Given the description of an element on the screen output the (x, y) to click on. 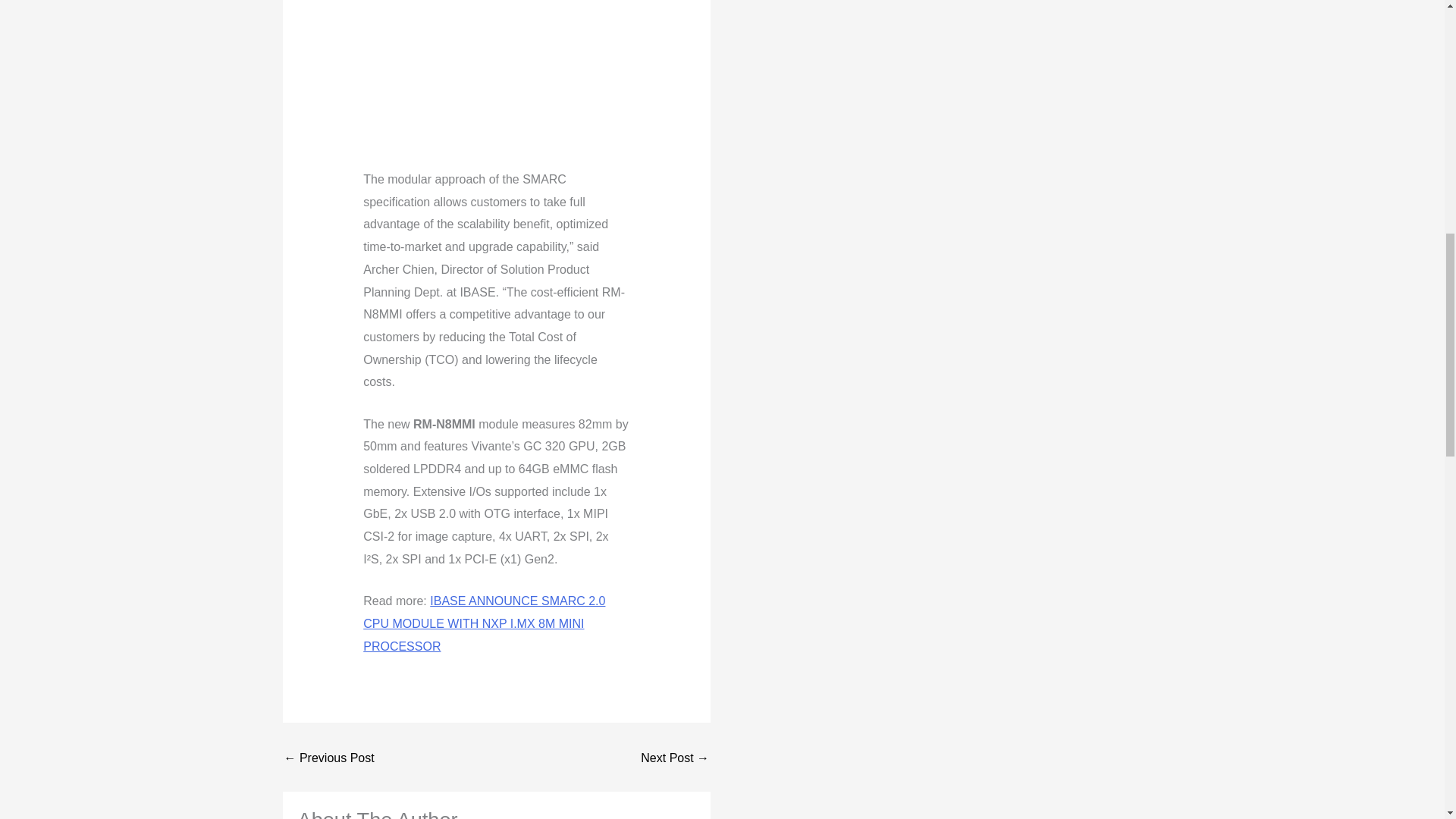
5W USB TYPE-C POWER DELIVERY 3.0 ADAPTER REFERENCE DESIGN (328, 758)
